Given the description of an element on the screen output the (x, y) to click on. 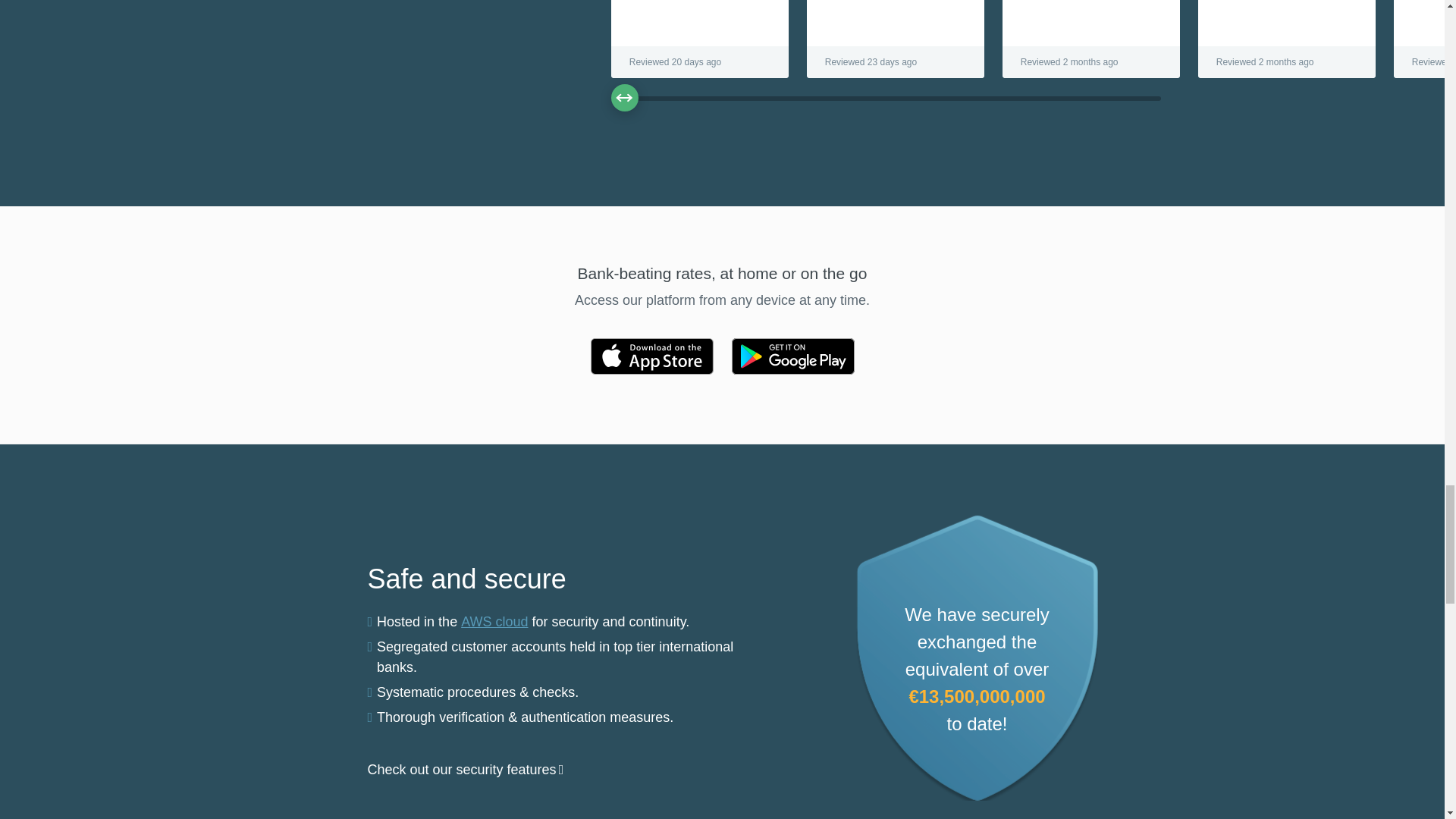
0 (885, 88)
